Given the description of an element on the screen output the (x, y) to click on. 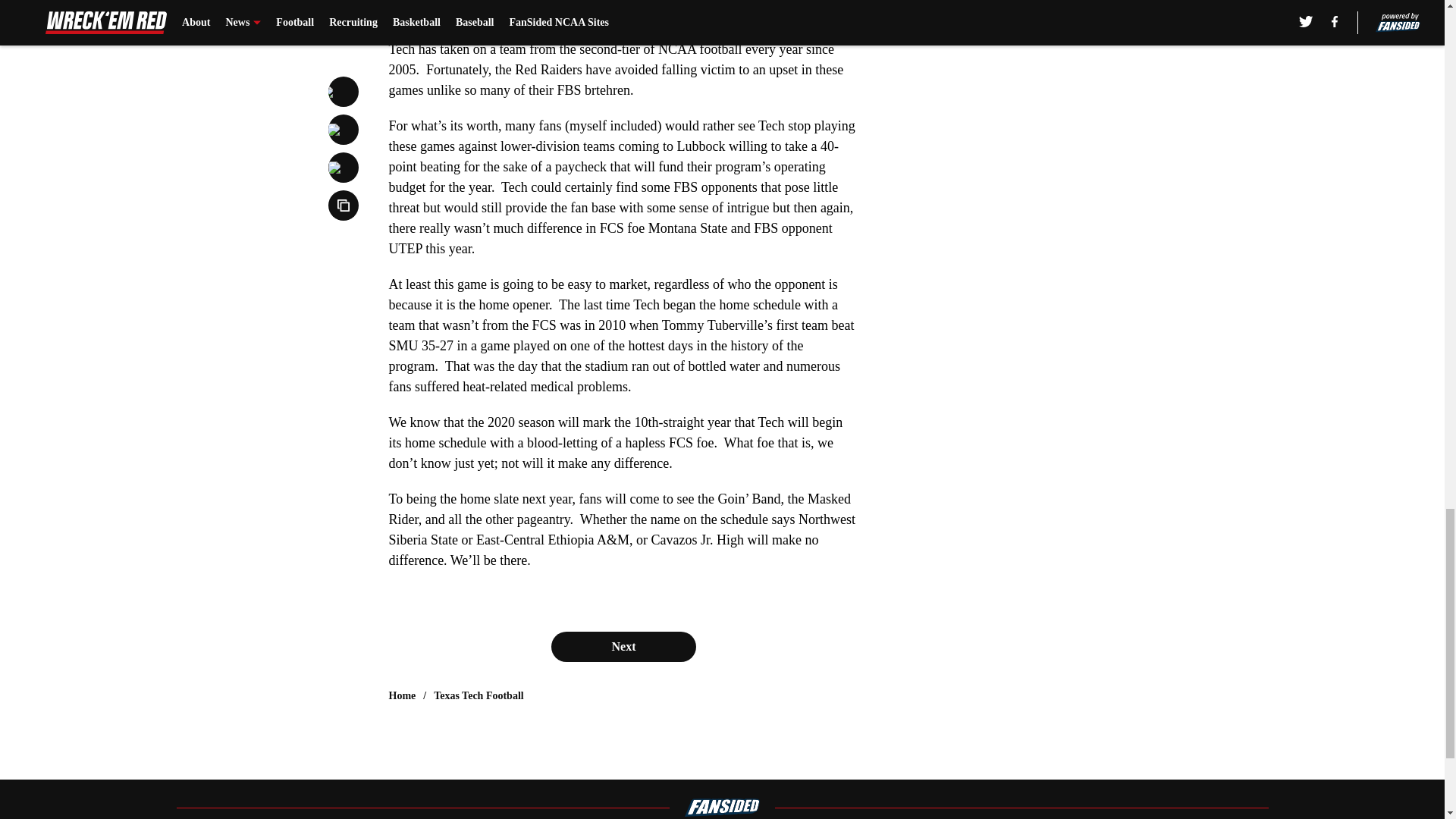
Texas Tech Football (478, 695)
Home (401, 695)
Next (622, 646)
